Given the description of an element on the screen output the (x, y) to click on. 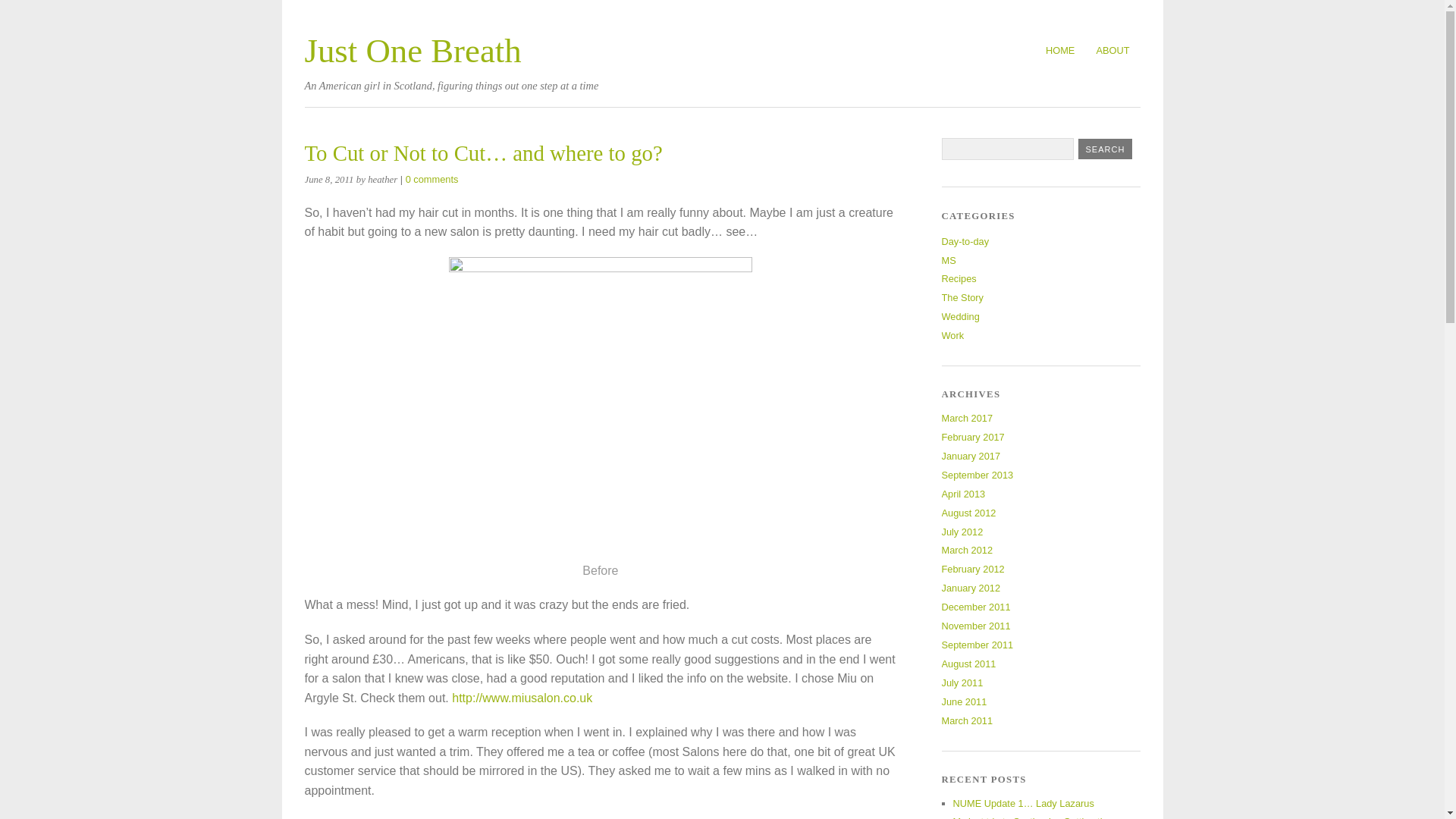
February 2012 (973, 568)
November 2011 (976, 625)
January 2017 (971, 455)
April 2013 (963, 493)
Search (1105, 148)
March 2011 (967, 720)
August 2011 (968, 663)
Search (1105, 148)
December 2011 (976, 606)
March 2012 (967, 550)
